Given the description of an element on the screen output the (x, y) to click on. 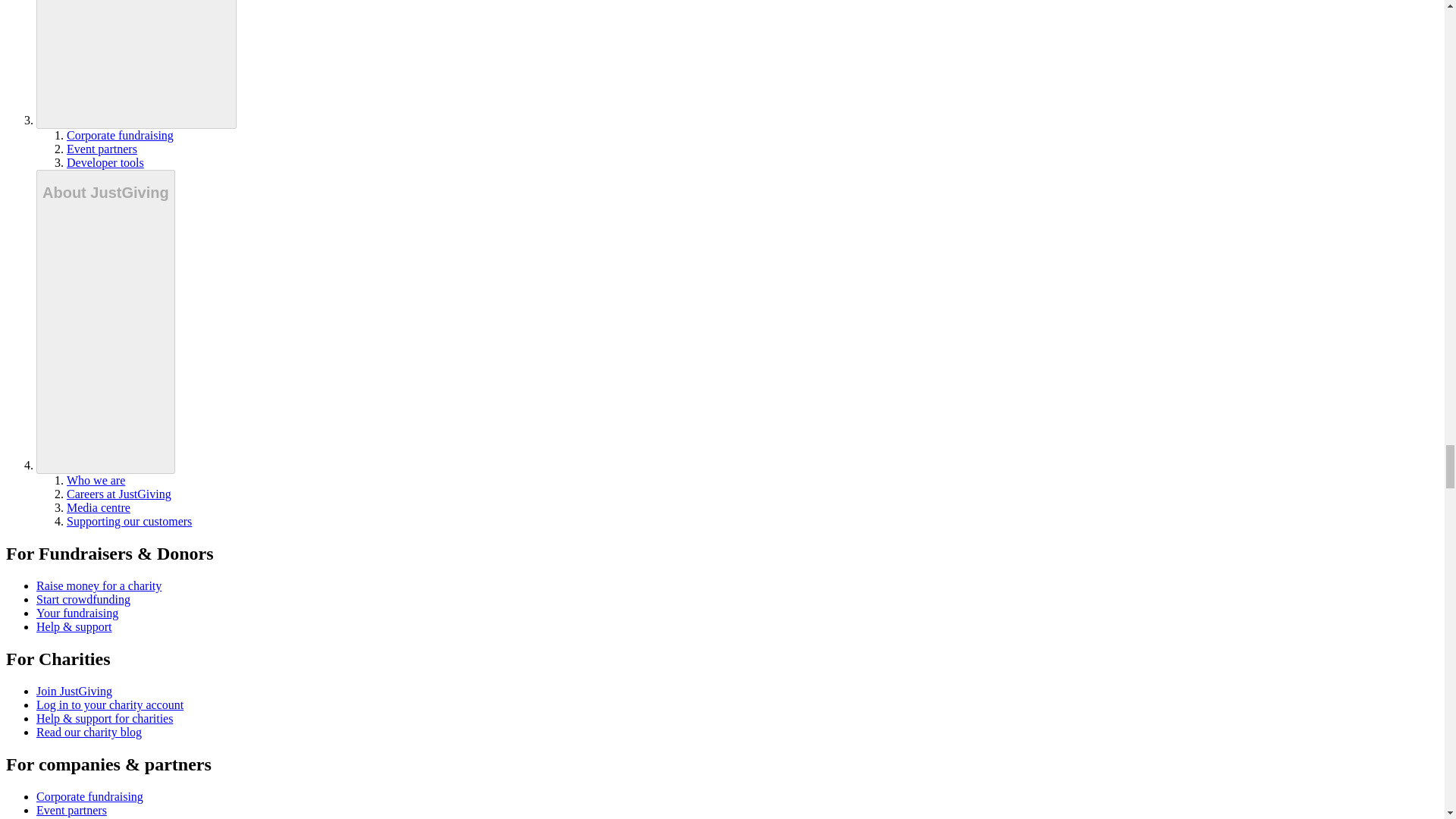
Event partners (101, 148)
Corporate fundraising (119, 134)
